Given the description of an element on the screen output the (x, y) to click on. 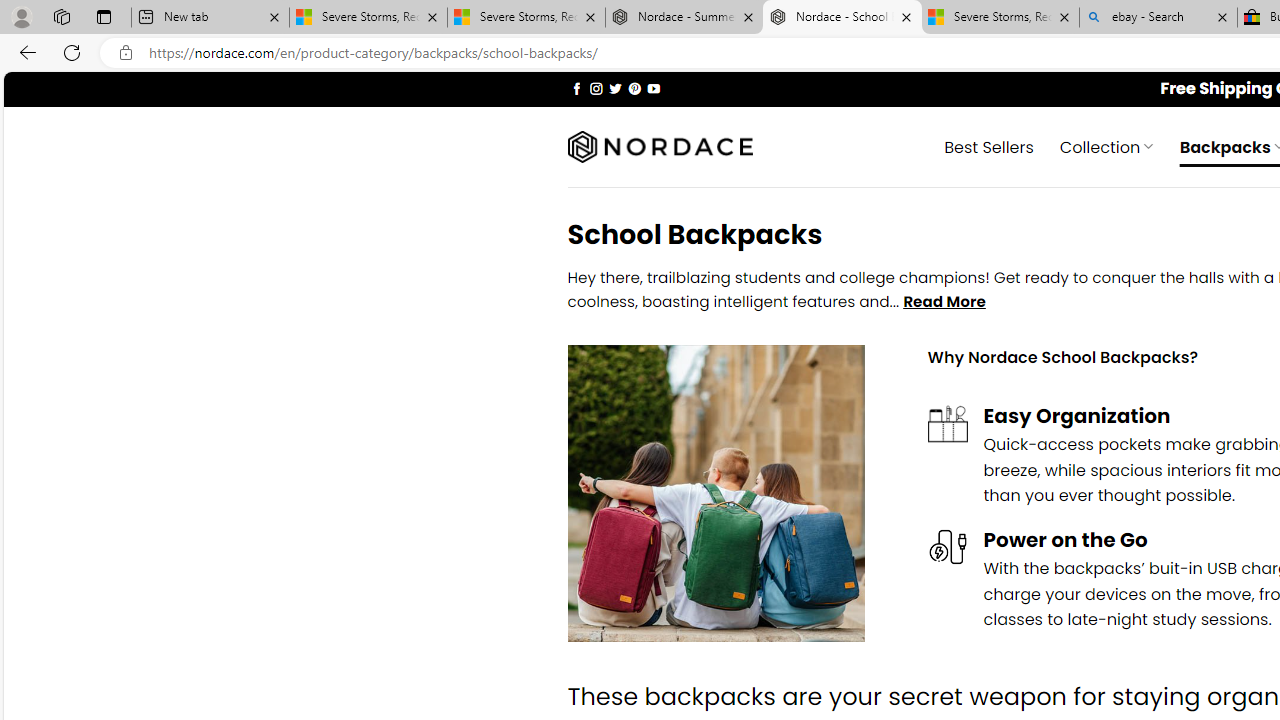
 Best Sellers (989, 146)
Follow on Facebook (576, 88)
Follow on Twitter (615, 88)
Follow on YouTube (653, 88)
Follow on Instagram (596, 88)
  Best Sellers (989, 146)
Follow on Pinterest (634, 88)
Nordace - School Backpacks (842, 17)
